Given the description of an element on the screen output the (x, y) to click on. 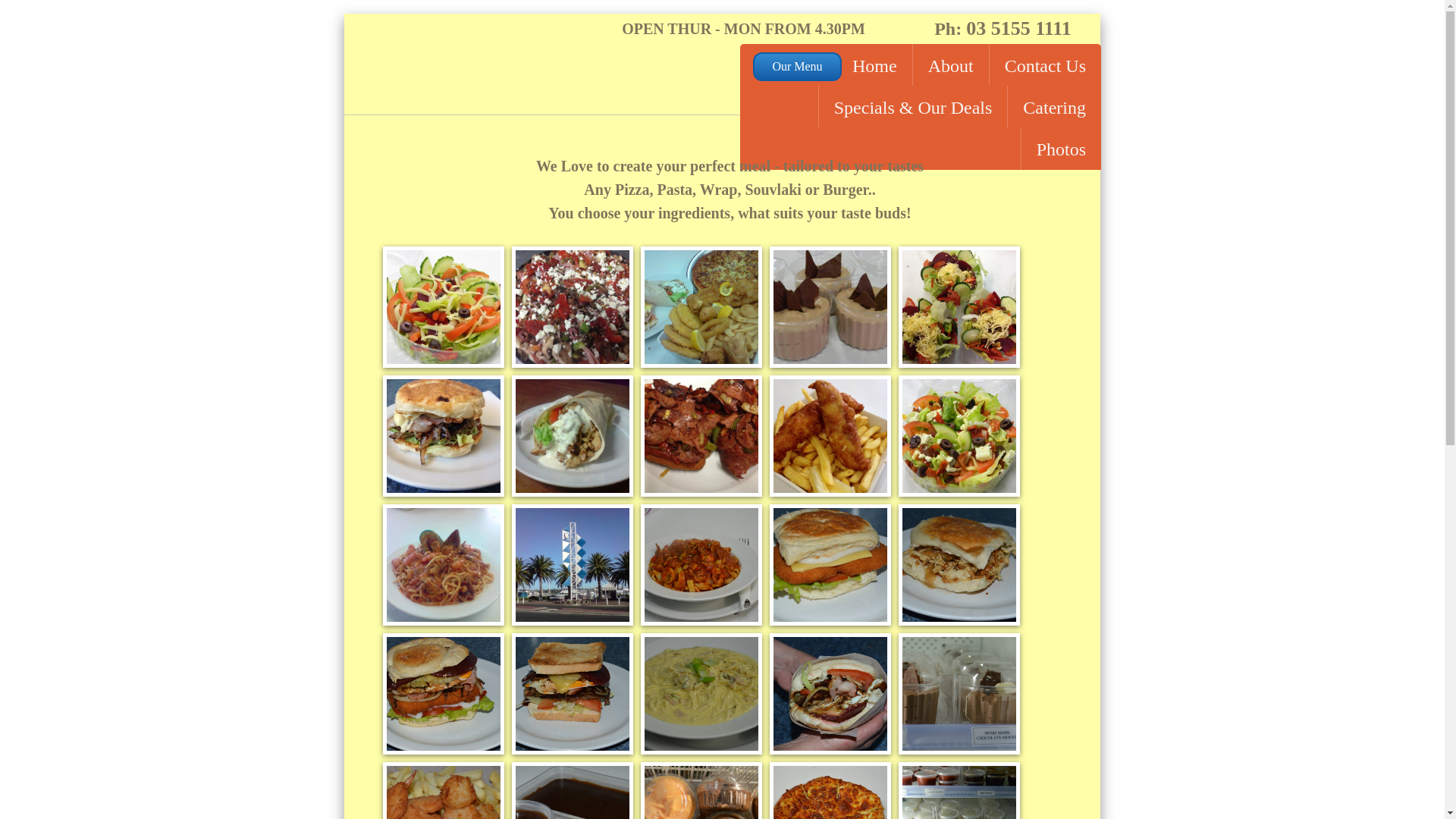
Catering Element type: text (1054, 106)
Specials & Our Deals Element type: text (912, 106)
Home Element type: text (874, 64)
About Element type: text (950, 64)
Our Menu Element type: text (797, 66)
Contact Us Element type: text (1044, 64)
Photos Element type: text (1060, 148)
